Given the description of an element on the screen output the (x, y) to click on. 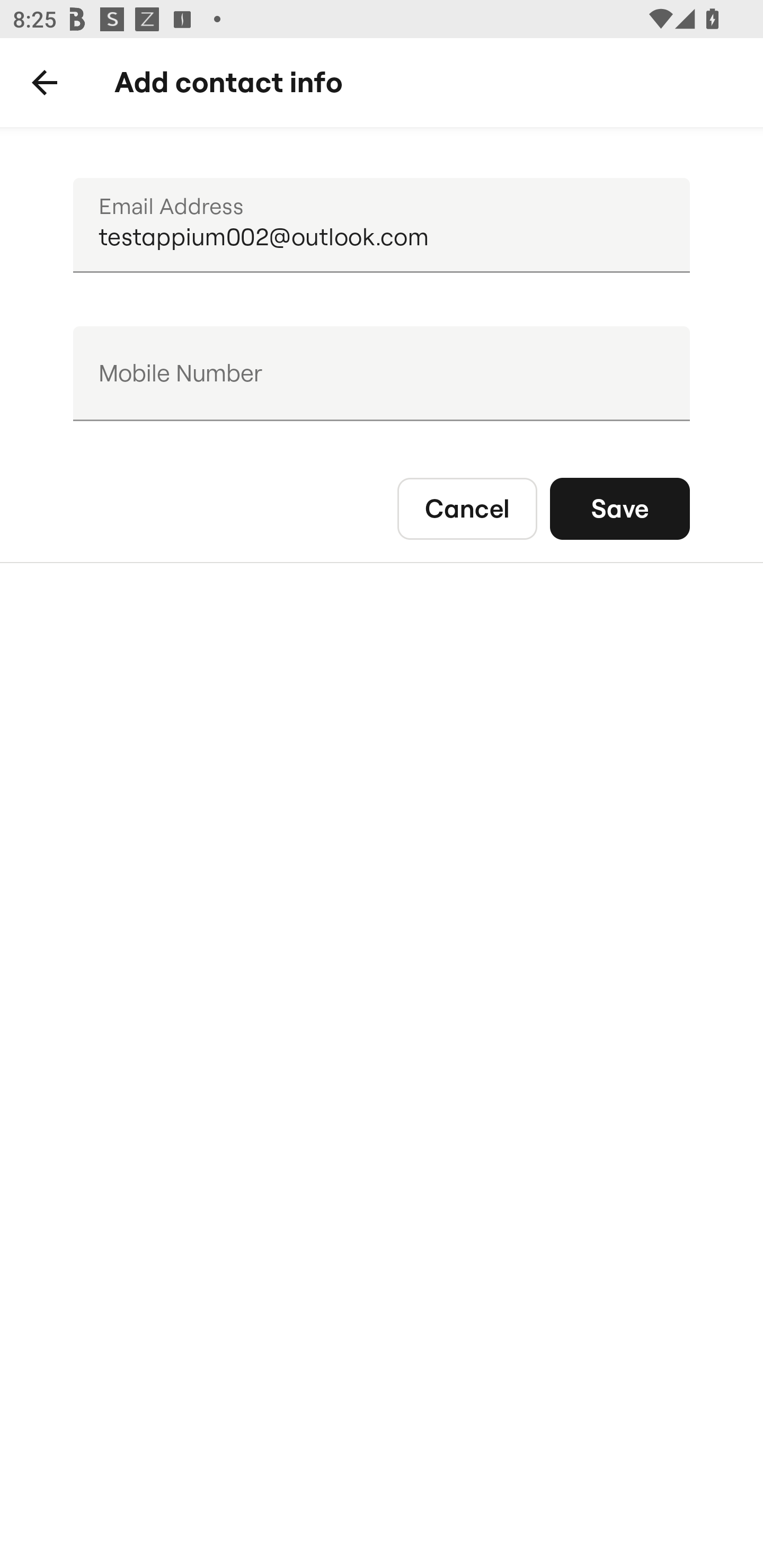
Back (44, 82)
testappium002@outlook.com (381, 225)
Mobile Number (381, 373)
Cancel (467, 508)
Save (619, 508)
